Given the description of an element on the screen output the (x, y) to click on. 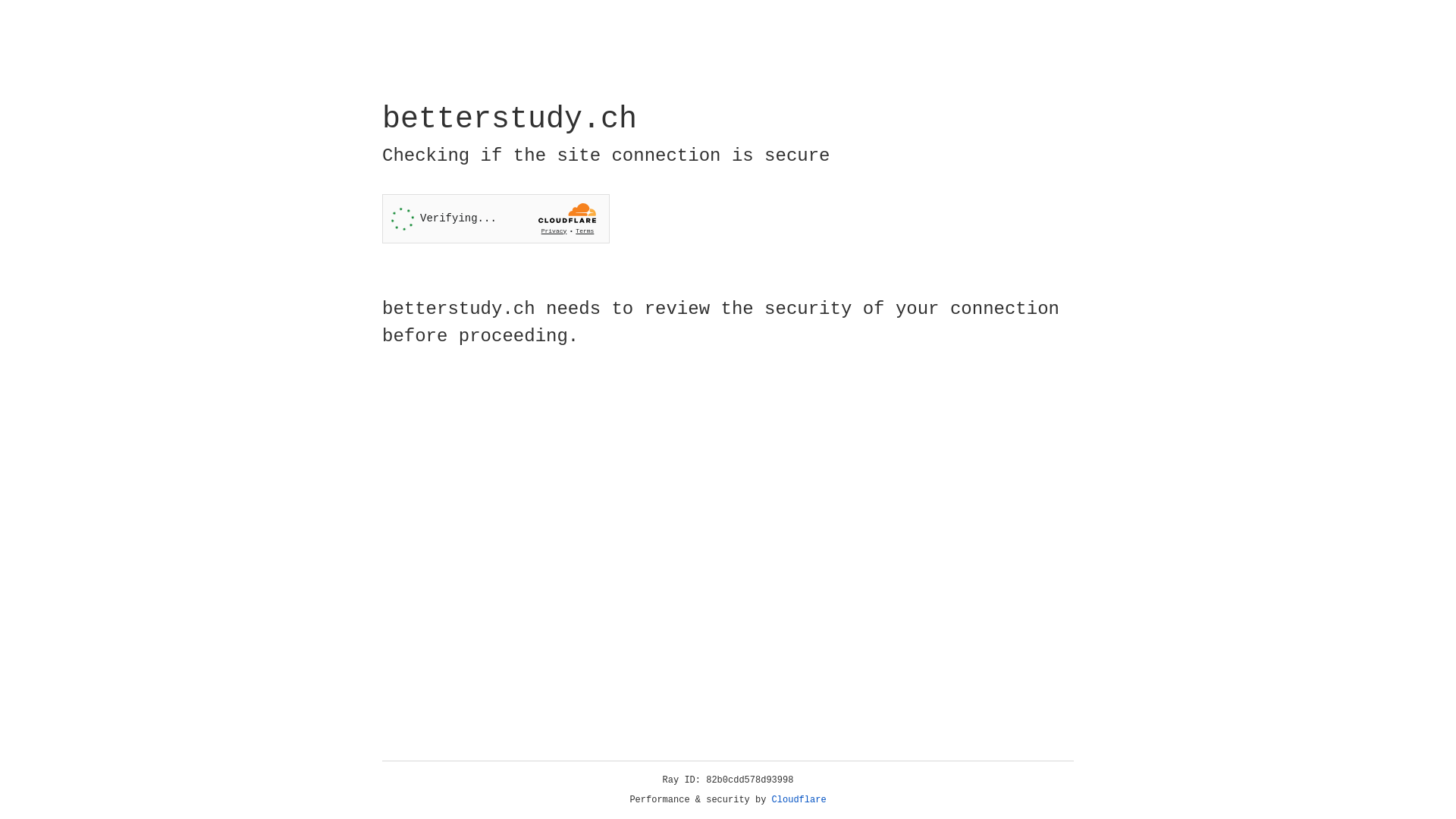
Widget containing a Cloudflare security challenge Element type: hover (495, 218)
Cloudflare Element type: text (798, 799)
